Given the description of an element on the screen output the (x, y) to click on. 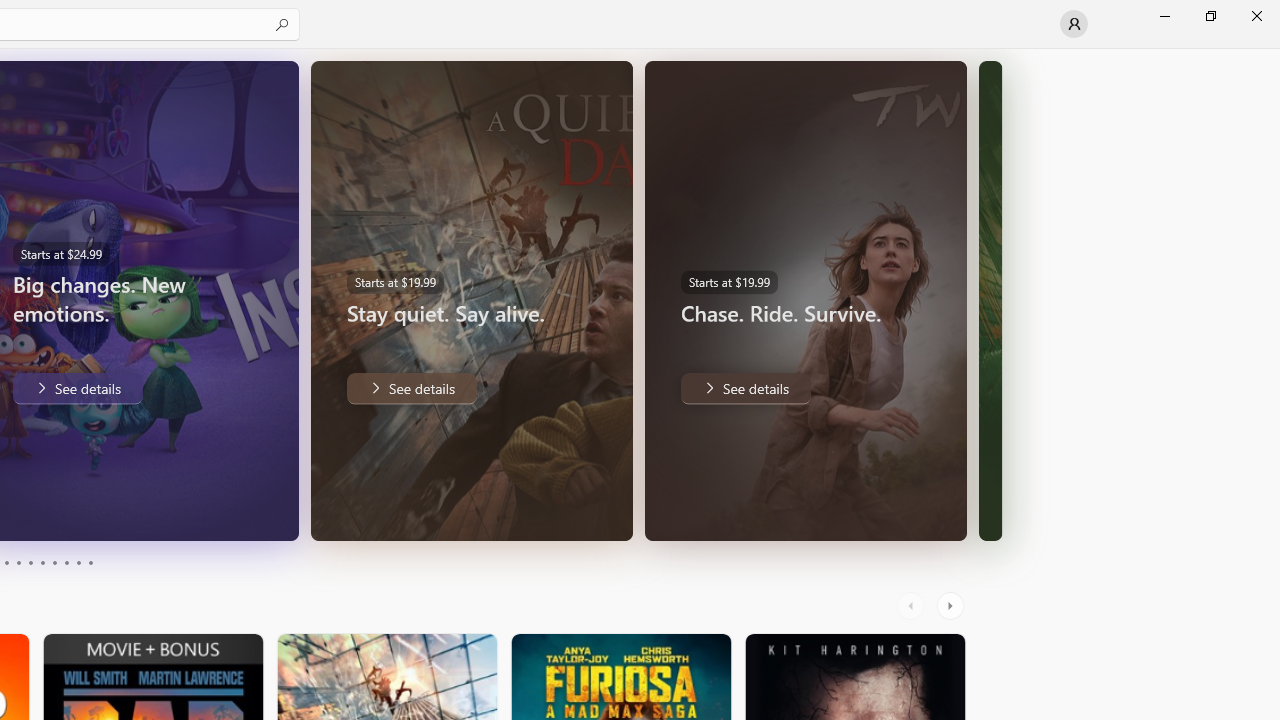
Minimize Microsoft Store (1164, 15)
Page 4 (17, 562)
Page 8 (65, 562)
Page 10 (90, 562)
Restore Microsoft Store (1210, 15)
Page 9 (77, 562)
Page 6 (41, 562)
Page 3 (5, 562)
AutomationID: LeftScrollButton (913, 606)
Page 5 (29, 562)
AutomationID: RightScrollButton (952, 606)
Page 7 (54, 562)
User profile (1073, 24)
